Given the description of an element on the screen output the (x, y) to click on. 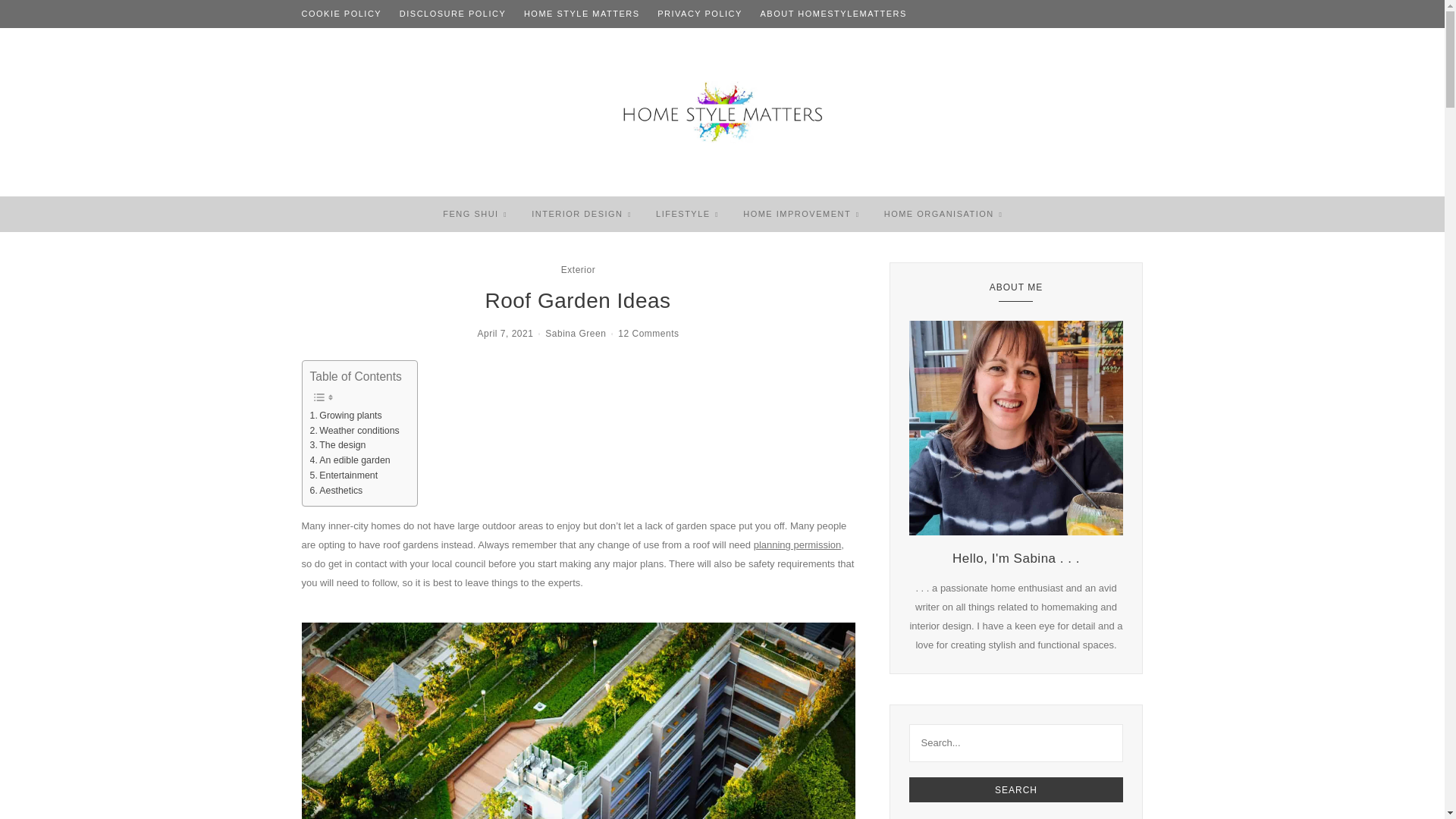
ABOUT HOMESTYLEMATTERS (833, 13)
INTERIOR DESIGN (577, 213)
HOME IMPROVEMENT (796, 213)
An edible garden (349, 460)
Roof Garden Ideas (578, 720)
DISCLOSURE POLICY (451, 13)
COOKIE POLICY (341, 13)
PRIVACY POLICY (700, 13)
Aesthetics (335, 491)
LIFESTYLE (683, 213)
Growing plants (344, 416)
Entertainment (342, 476)
HOME STYLE MATTERS (582, 13)
The design (336, 445)
FENG SHUI (469, 213)
